Given the description of an element on the screen output the (x, y) to click on. 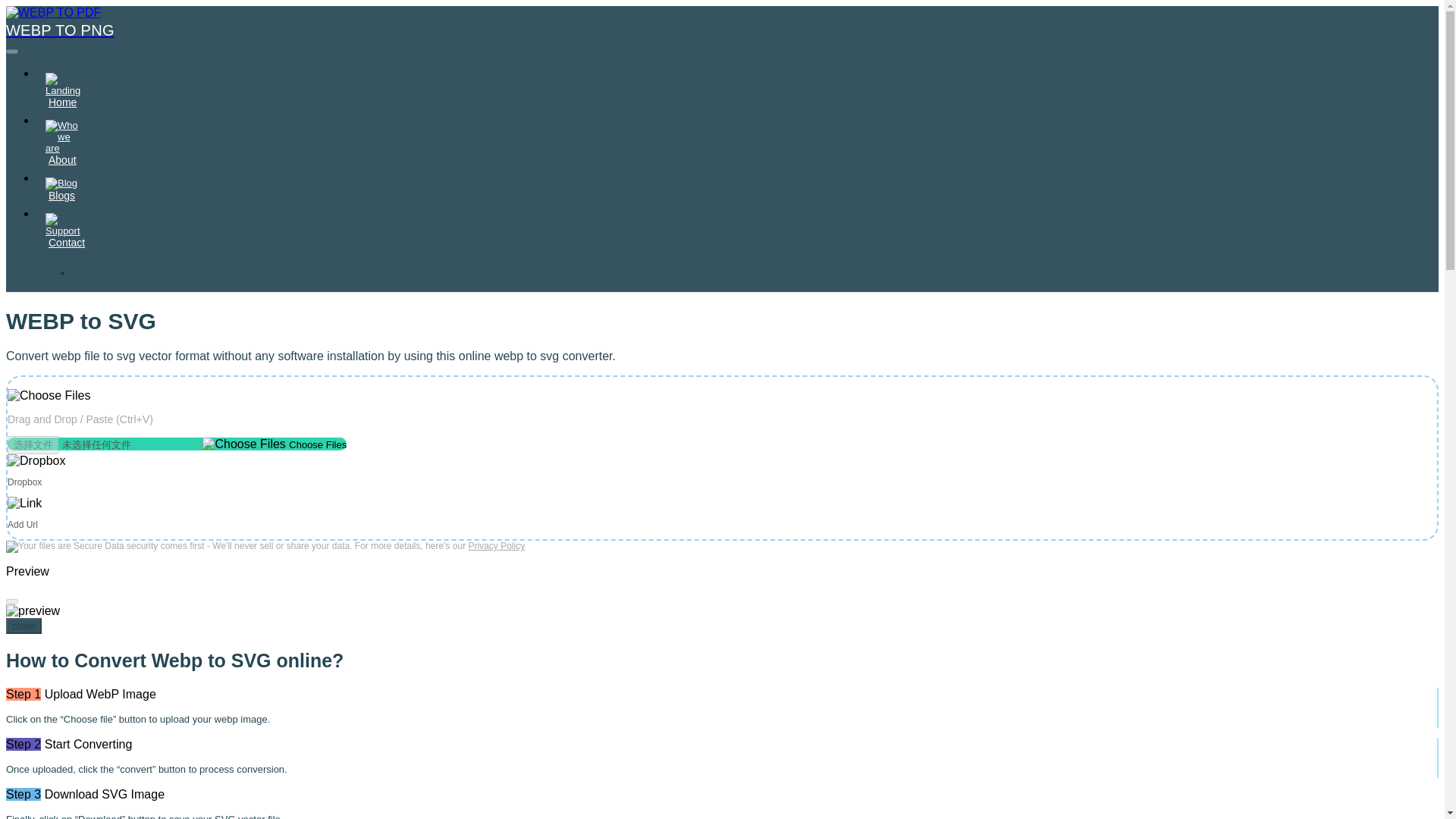
Home (62, 89)
About (62, 142)
Contact (66, 230)
close (23, 625)
Blogs (61, 189)
Privacy Policy (496, 545)
